Given the description of an element on the screen output the (x, y) to click on. 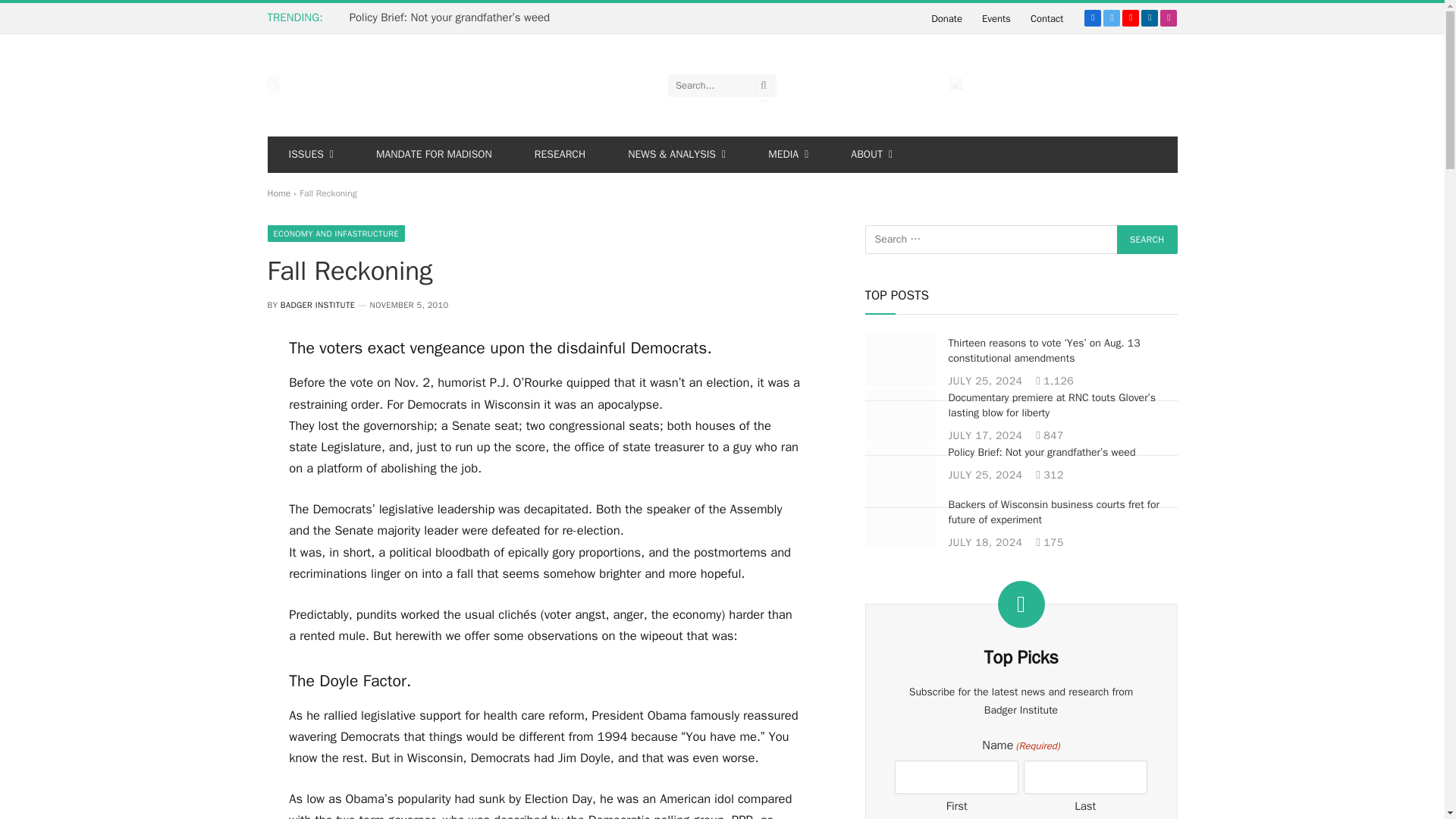
Posts by Badger Institute (318, 304)
Search (1146, 239)
Search (1146, 239)
